Given the description of an element on the screen output the (x, y) to click on. 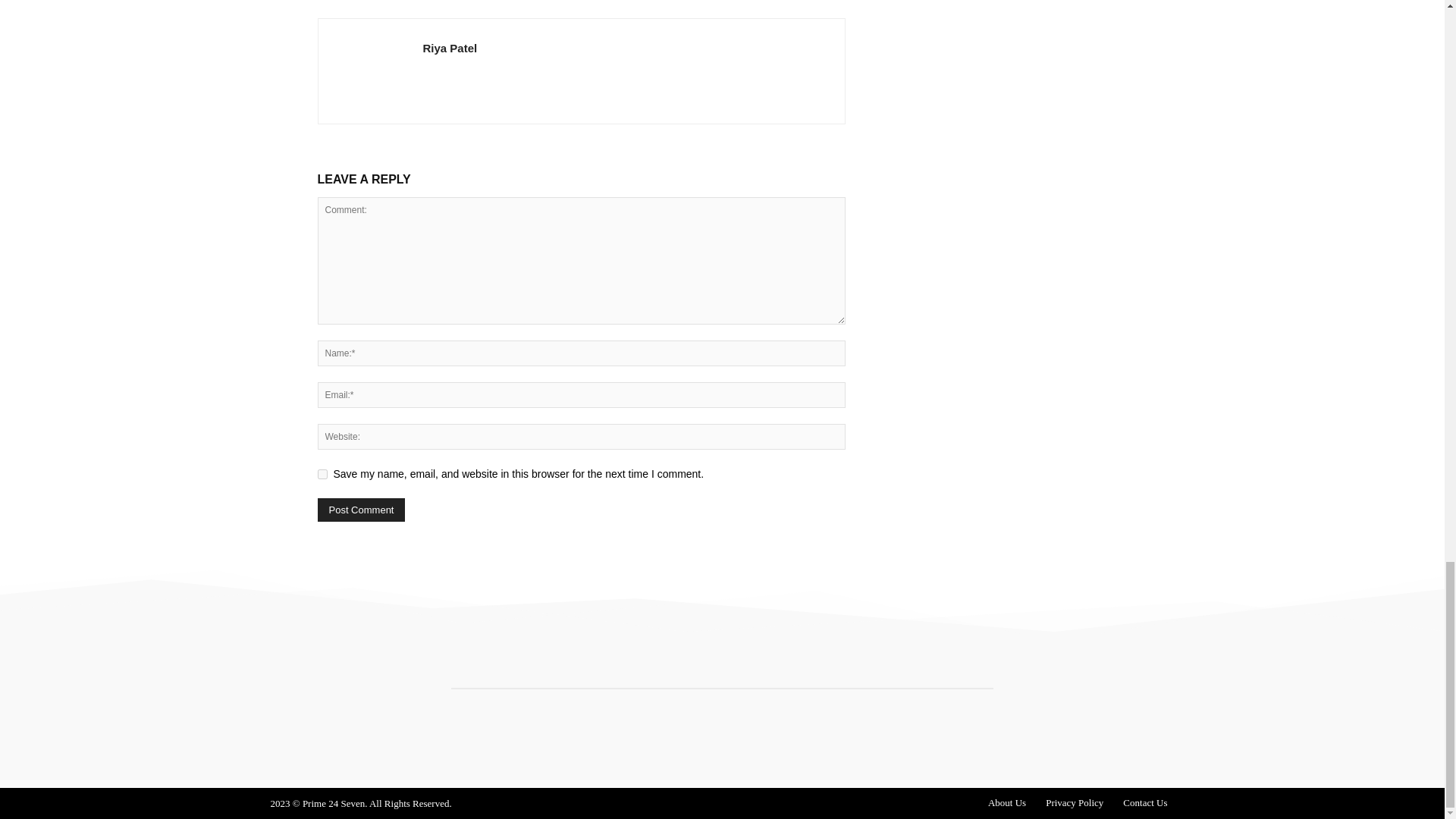
Post Comment (360, 509)
yes (321, 474)
